Given the description of an element on the screen output the (x, y) to click on. 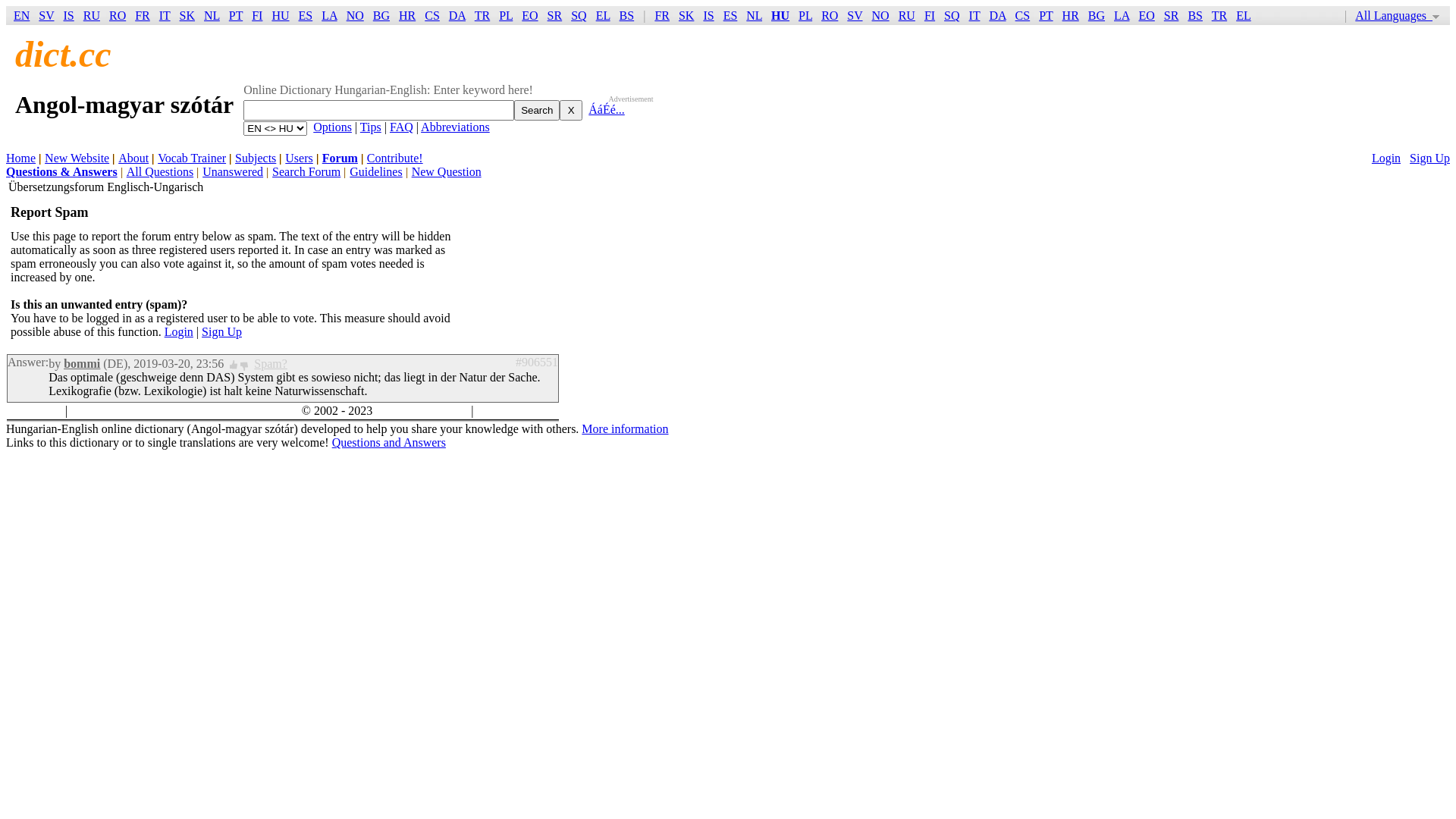
PL Element type: text (505, 15)
FR Element type: text (661, 15)
BS Element type: text (1194, 15)
NO Element type: text (880, 15)
RU Element type: text (906, 15)
FI Element type: text (256, 15)
HR Element type: text (406, 15)
RO Element type: text (117, 15)
SR Element type: text (1171, 15)
Questions & Answers Element type: text (61, 171)
IT Element type: text (974, 15)
SK Element type: text (186, 15)
DA Element type: text (456, 15)
All Questions Element type: text (159, 171)
TR Element type: text (1218, 15)
IT Element type: text (164, 15)
Login Element type: text (1385, 157)
PT Element type: text (1045, 15)
SK Element type: text (685, 15)
back to top Element type: text (35, 410)
Home Element type: text (20, 157)
Options Element type: text (332, 126)
LA Element type: text (328, 15)
bommi Element type: text (81, 363)
Users Element type: text (298, 157)
HR Element type: text (1070, 15)
TR Element type: text (481, 15)
CS Element type: text (431, 15)
DA Element type: text (996, 15)
EL Element type: text (1243, 15)
NL Element type: text (754, 15)
Questions and Answers Element type: text (388, 442)
RO Element type: text (829, 15)
EN Element type: text (21, 15)
ES Element type: text (305, 15)
Contribute! Element type: text (395, 157)
HU Element type: text (780, 15)
X Element type: text (570, 110)
EO Element type: text (529, 15)
IS Element type: text (68, 15)
LA Element type: text (1121, 15)
Login Element type: text (178, 331)
BG Element type: text (381, 15)
Tips Element type: text (370, 126)
BG Element type: text (1096, 15)
dict.cc Element type: text (63, 54)
Forum Element type: text (339, 157)
HU Element type: text (279, 15)
More information Element type: text (624, 428)
CS Element type: text (1022, 15)
Unanswered Element type: text (232, 171)
SV Element type: text (45, 15)
Sign Up Element type: text (1429, 157)
PT Element type: text (235, 15)
Search Element type: text (536, 110)
NL Element type: text (211, 15)
Vocab Trainer Element type: text (191, 157)
contact / privacy Element type: text (516, 410)
Guidelines Element type: text (375, 171)
PL Element type: text (805, 15)
FR Element type: text (142, 15)
ES Element type: text (730, 15)
#906551 Element type: text (536, 361)
FI Element type: text (929, 15)
EO Element type: text (1146, 15)
NO Element type: text (355, 15)
SQ Element type: text (951, 15)
Search Forum Element type: text (306, 171)
New Question Element type: text (446, 171)
SR Element type: text (554, 15)
Paul Hemetsberger Element type: text (421, 410)
Subjects Element type: text (255, 157)
IS Element type: text (707, 15)
EL Element type: text (603, 15)
Spam? Element type: text (270, 363)
SQ Element type: text (578, 15)
home Element type: text (83, 410)
Sign Up Element type: text (221, 331)
SV Element type: text (854, 15)
New Website Element type: text (76, 157)
RU Element type: text (91, 15)
All Languages  Element type: text (1397, 15)
About Element type: text (133, 157)
FAQ Element type: text (401, 126)
Abbreviations Element type: text (454, 126)
BS Element type: text (626, 15)
